Given the description of an element on the screen output the (x, y) to click on. 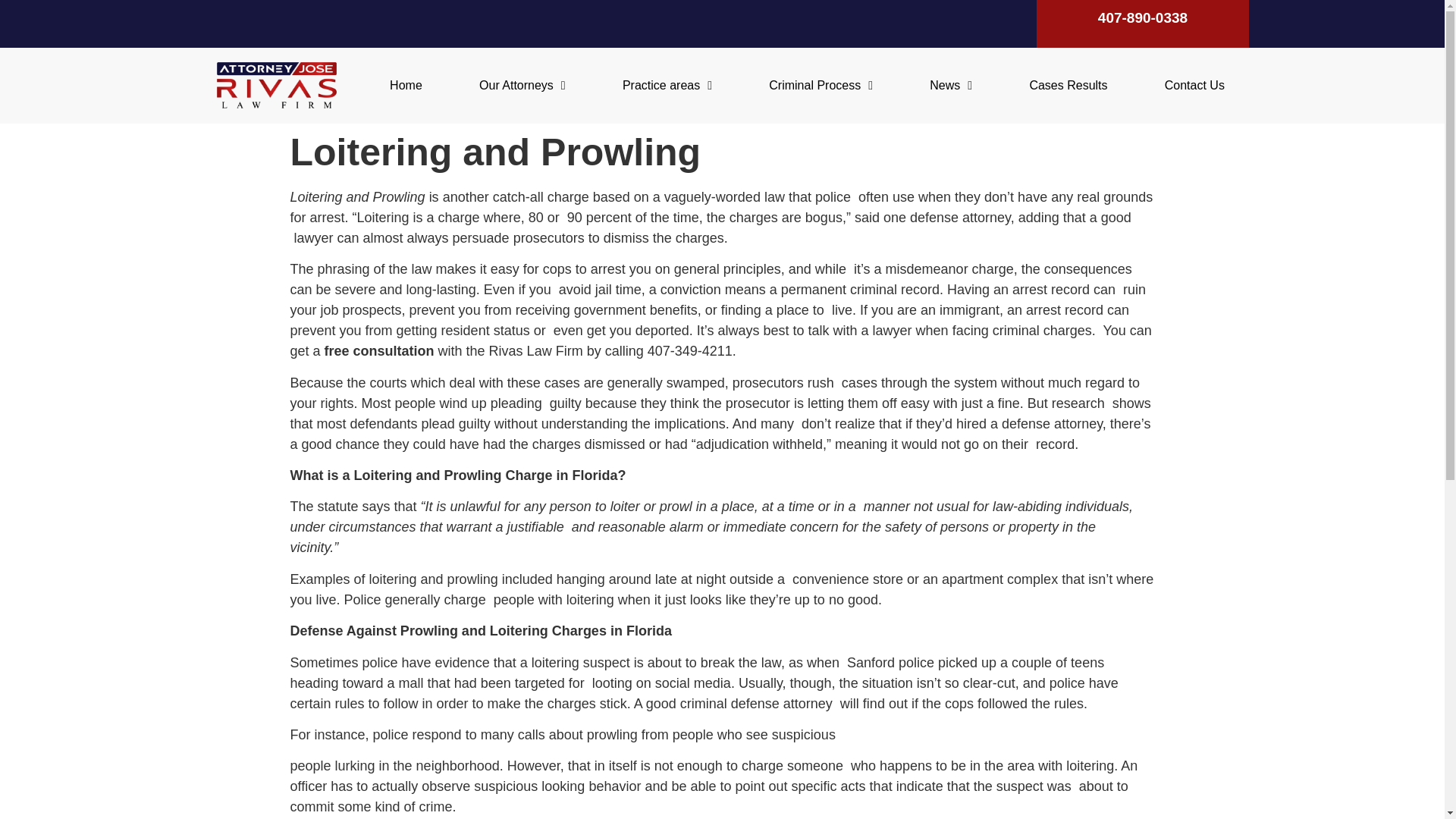
Our Attorneys (521, 85)
Home (405, 85)
Practice areas (666, 85)
407-890-0338 (1142, 17)
